Given the description of an element on the screen output the (x, y) to click on. 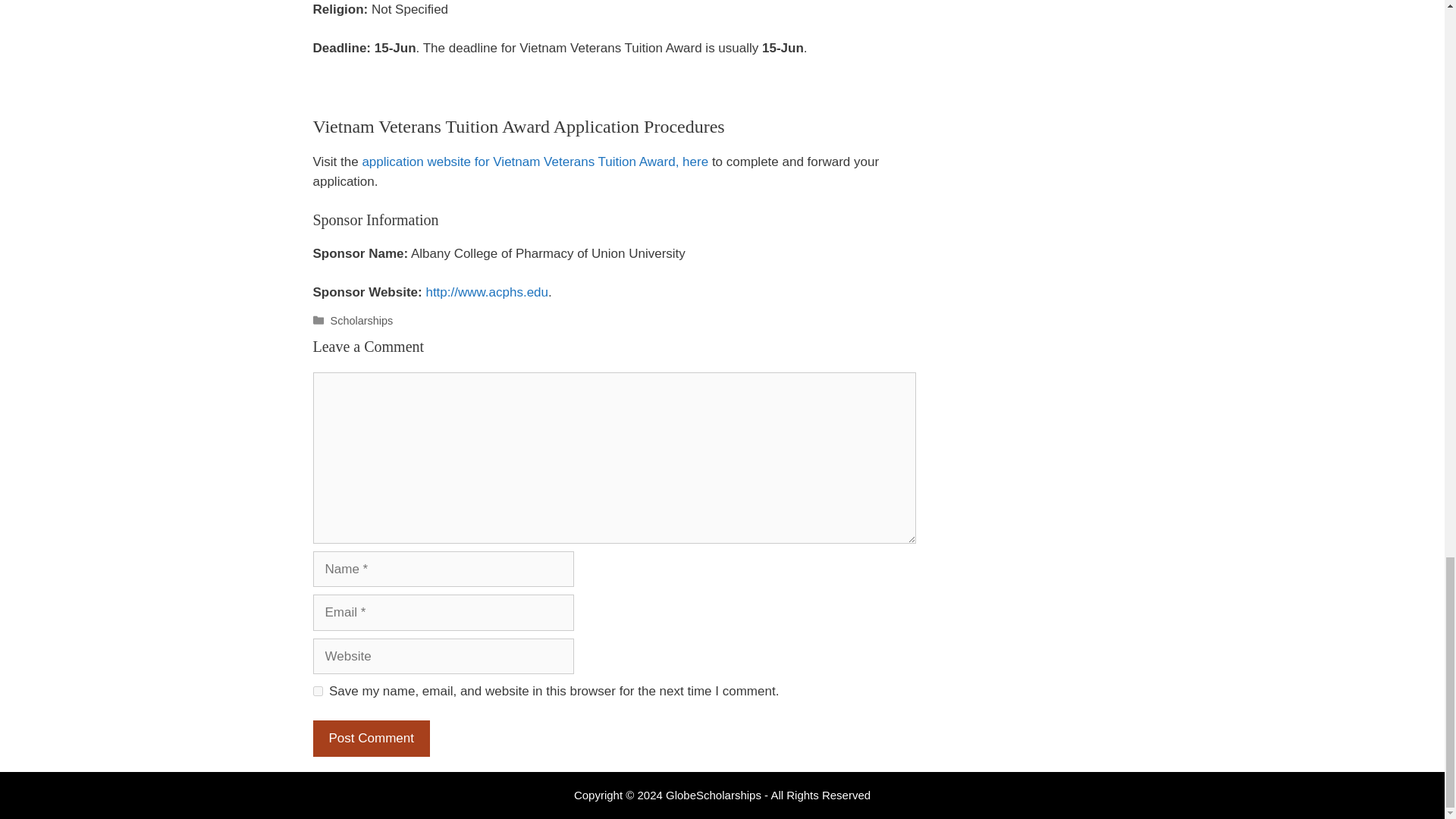
application website for Vietnam Veterans Tuition Award, here (534, 161)
yes (317, 691)
Post Comment (371, 738)
Scholarships (361, 320)
Post Comment (371, 738)
